Given the description of an element on the screen output the (x, y) to click on. 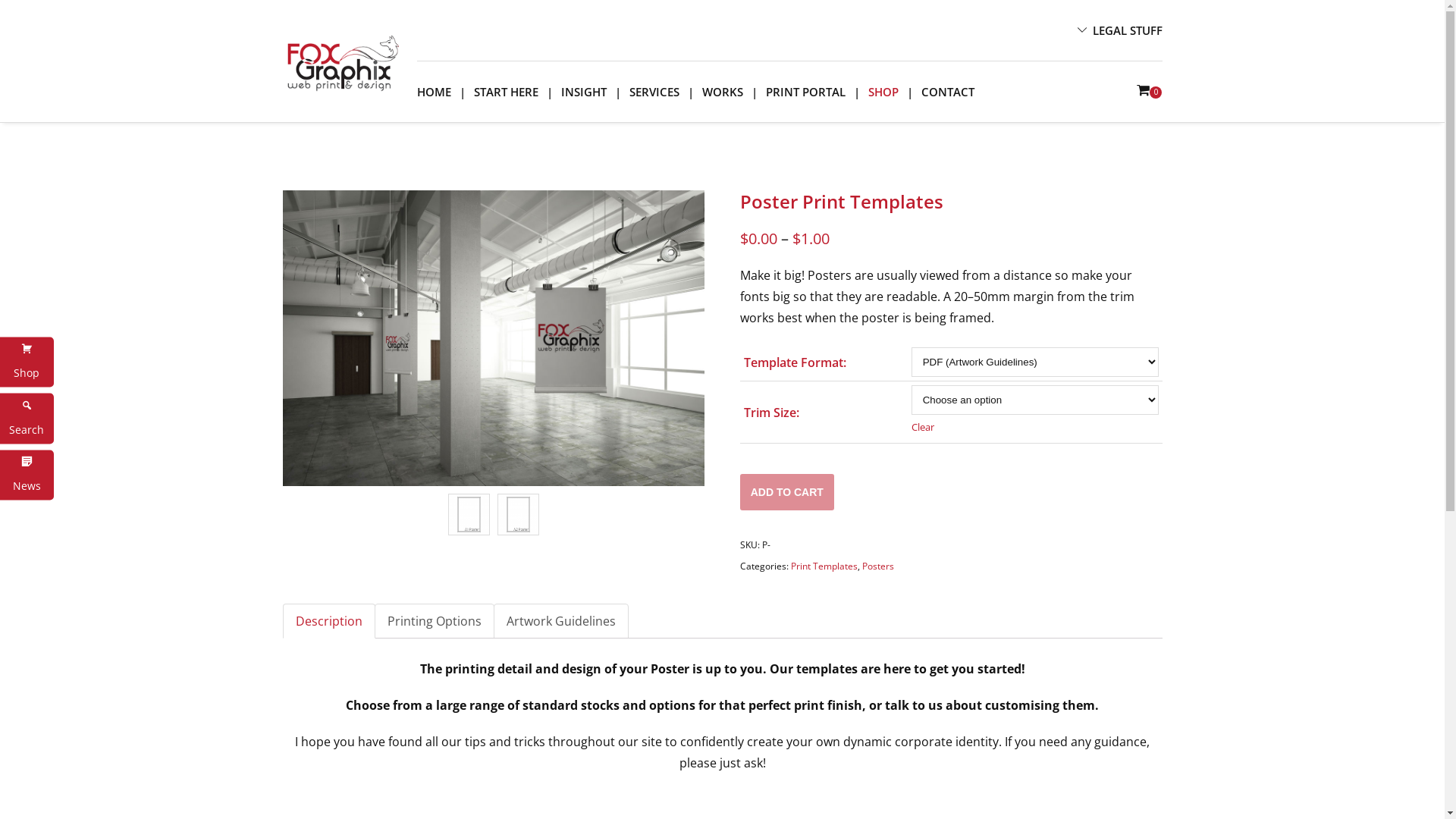
Description Element type: text (328, 620)
Artwork Guidelines Element type: text (560, 620)
Clear Element type: text (1034, 426)
ADD TO CART Element type: text (787, 491)
Posters Element type: text (878, 565)
SHOP Element type: text (883, 91)
SERVICES Element type: text (653, 91)
CONTACT Element type: text (947, 91)
WORKS Element type: text (721, 91)
Print Templates Element type: text (823, 565)
LEGAL STUFF Element type: text (1126, 30)
fg_background1 Element type: hover (493, 338)
PRINT PORTAL Element type: text (804, 91)
FG_Poster_A1 Element type: hover (468, 514)
HOME Element type: text (439, 91)
FG_Poster_A2 Element type: hover (518, 514)
INSIGHT Element type: text (583, 91)
0 Element type: text (1148, 91)
START HERE Element type: text (505, 91)
Printing Options Element type: text (433, 620)
